Given the description of an element on the screen output the (x, y) to click on. 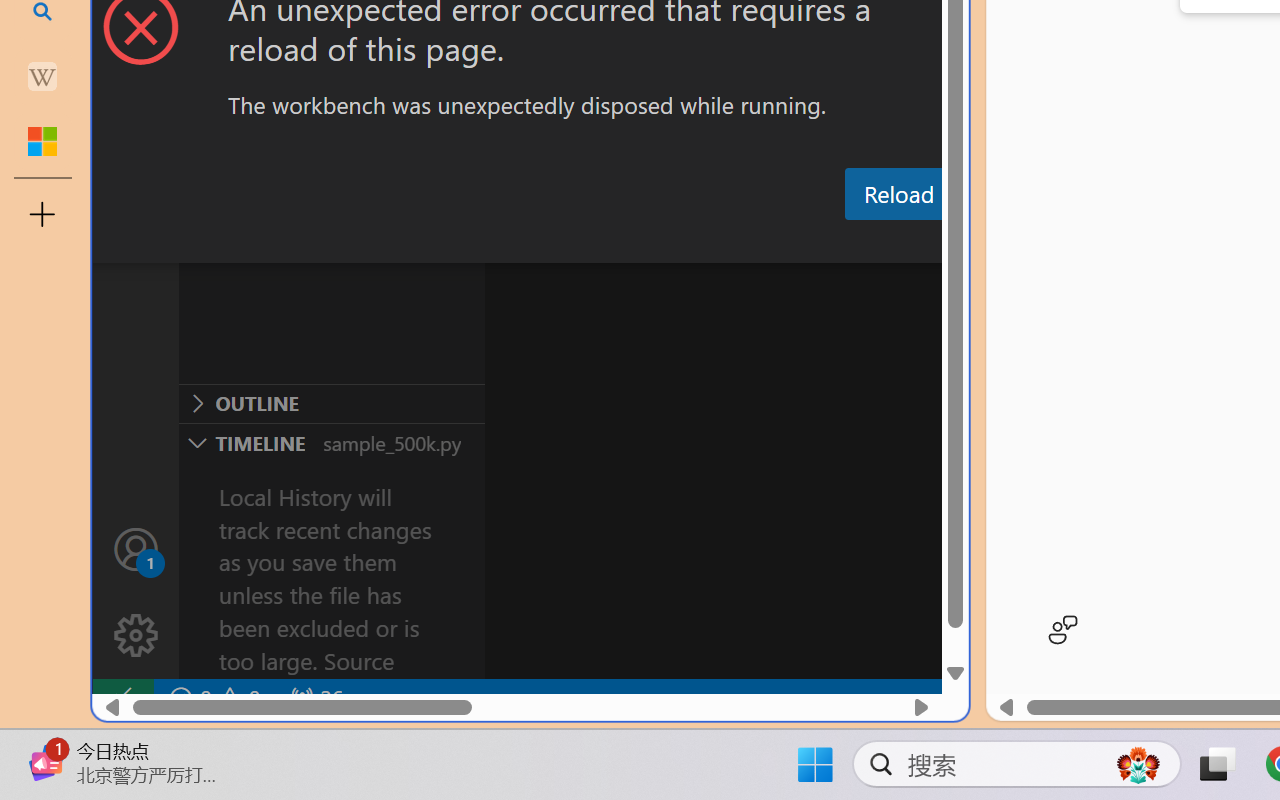
Accounts - Sign in requested (135, 548)
Debug Console (Ctrl+Shift+Y) (854, 243)
Terminal (Ctrl+`) (1021, 243)
